Given the description of an element on the screen output the (x, y) to click on. 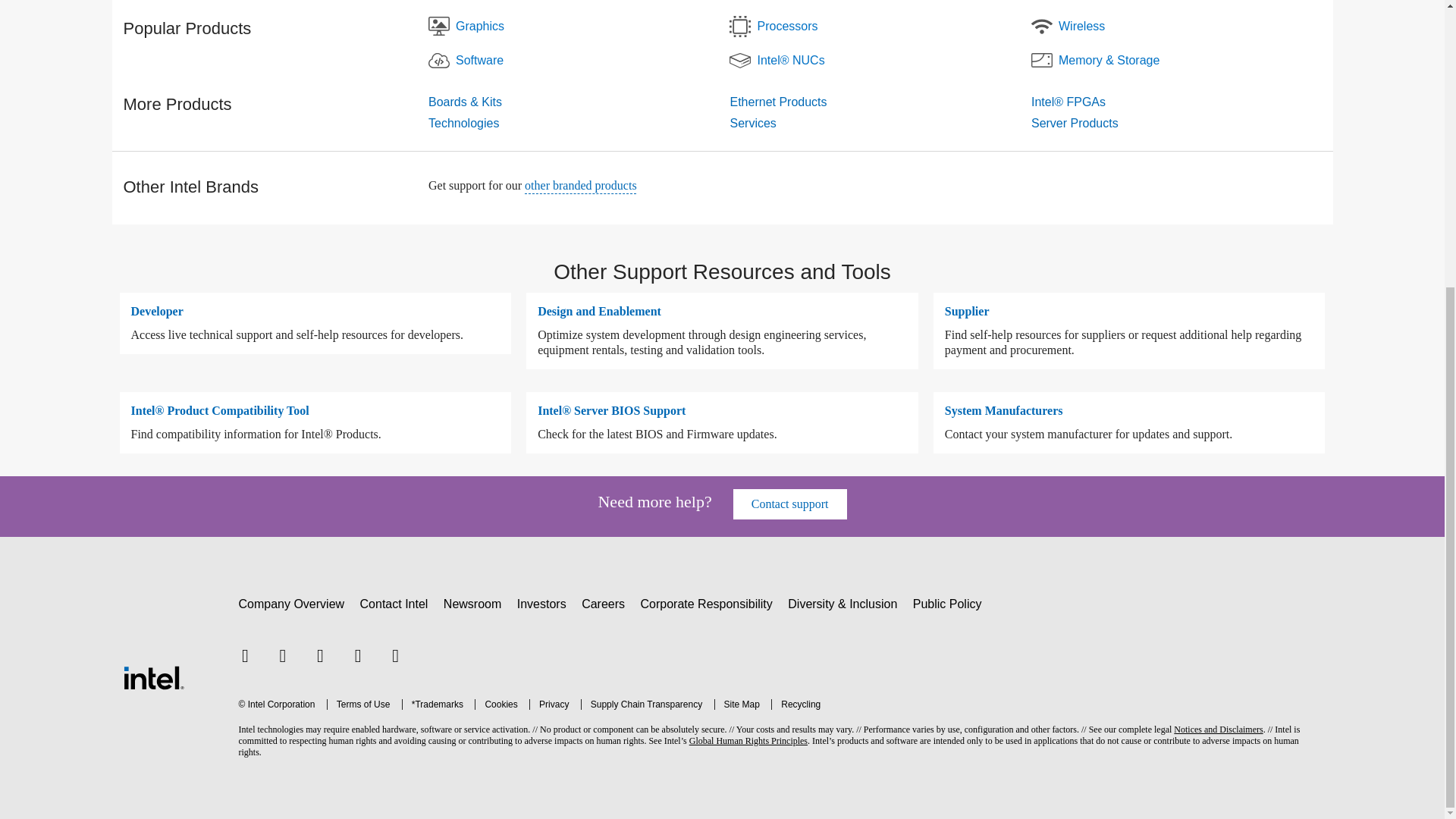
Intel Footer Logo (152, 676)
